Given the description of an element on the screen output the (x, y) to click on. 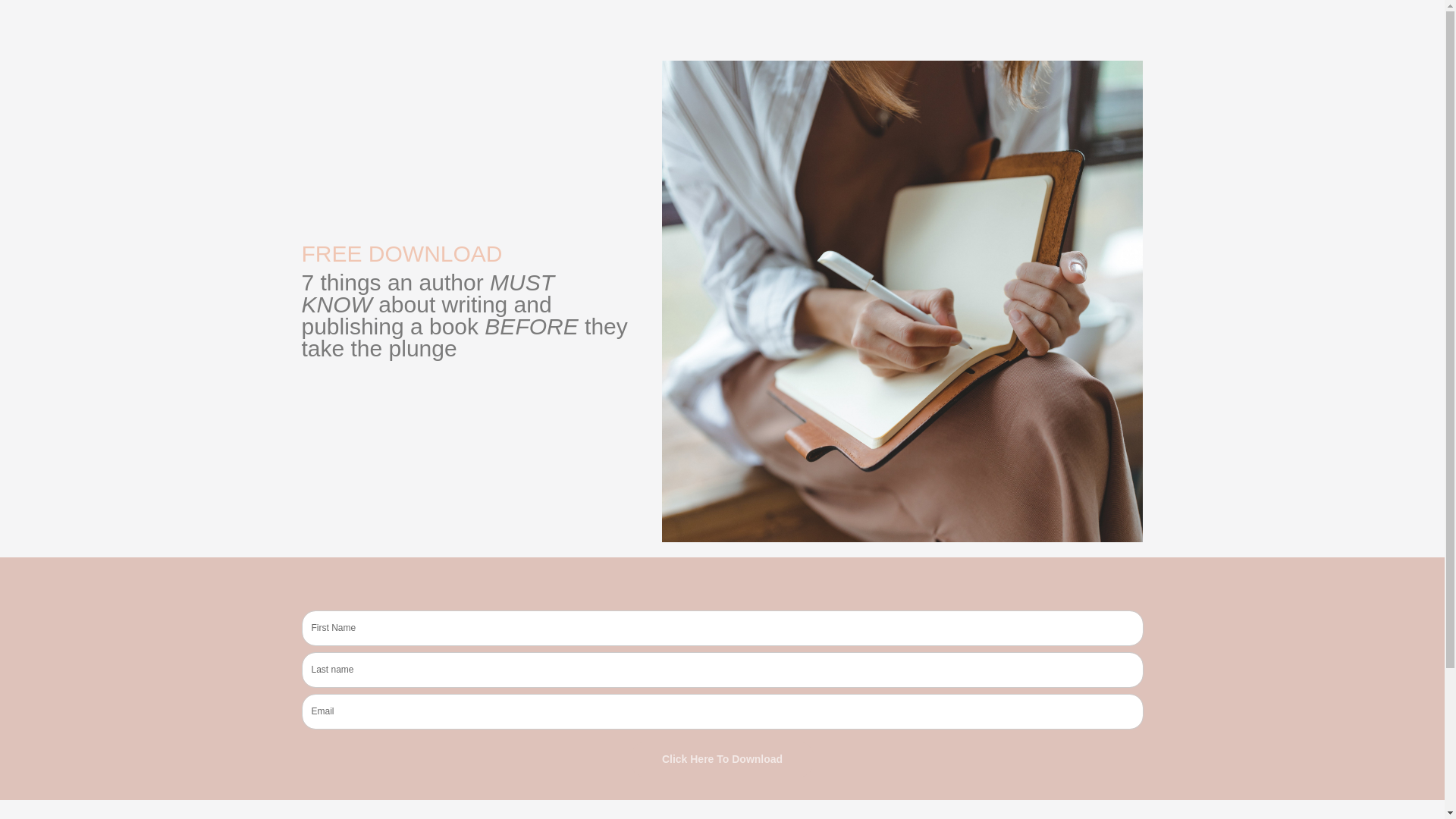
Click Here To Download (721, 759)
